Given the description of an element on the screen output the (x, y) to click on. 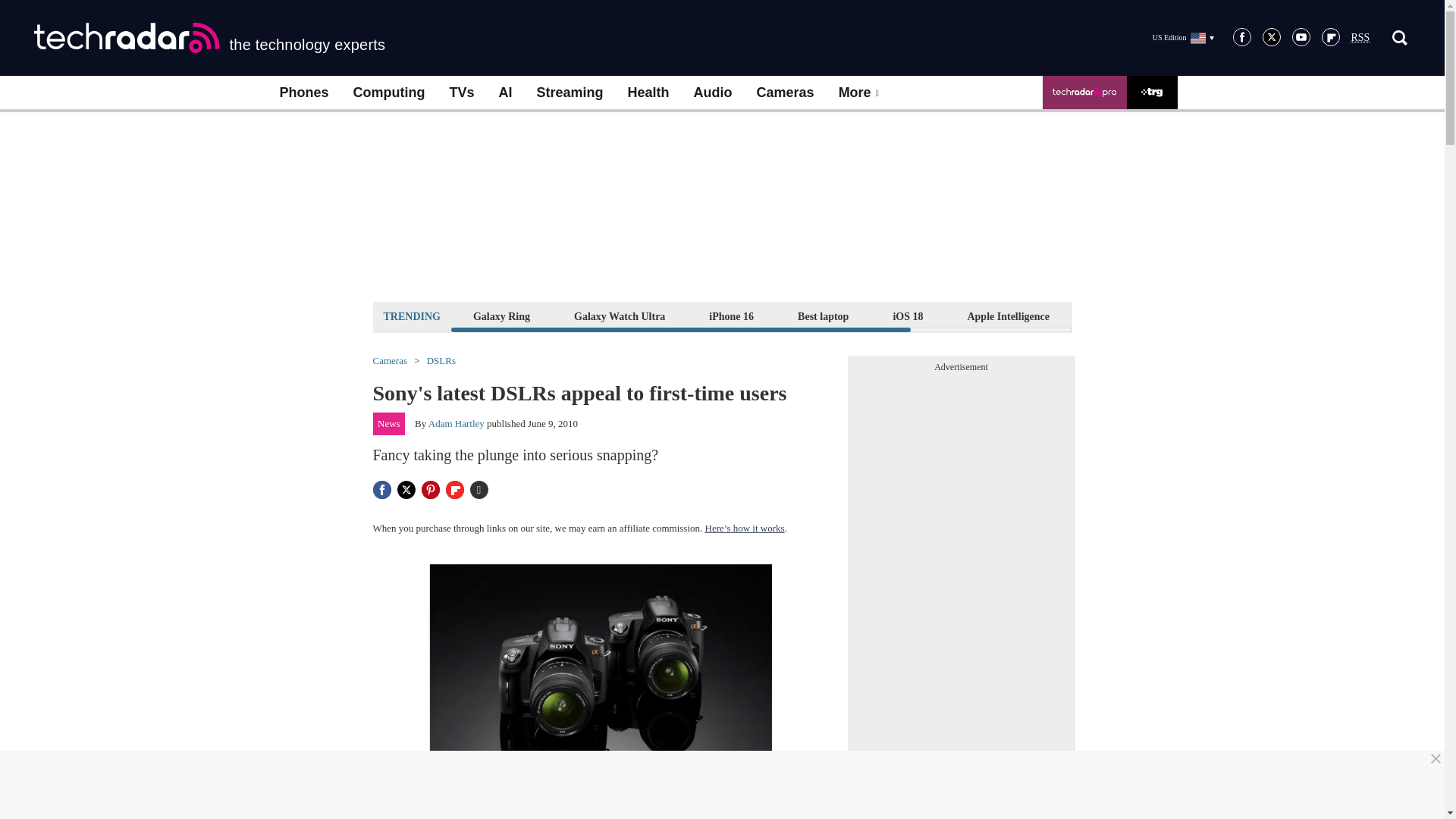
Really Simple Syndication (1360, 37)
Computing (389, 92)
US Edition (1182, 37)
Streaming (569, 92)
AI (505, 92)
Health (648, 92)
the technology experts (209, 38)
Audio (712, 92)
Phones (303, 92)
TVs (461, 92)
Cameras (785, 92)
